Given the description of an element on the screen output the (x, y) to click on. 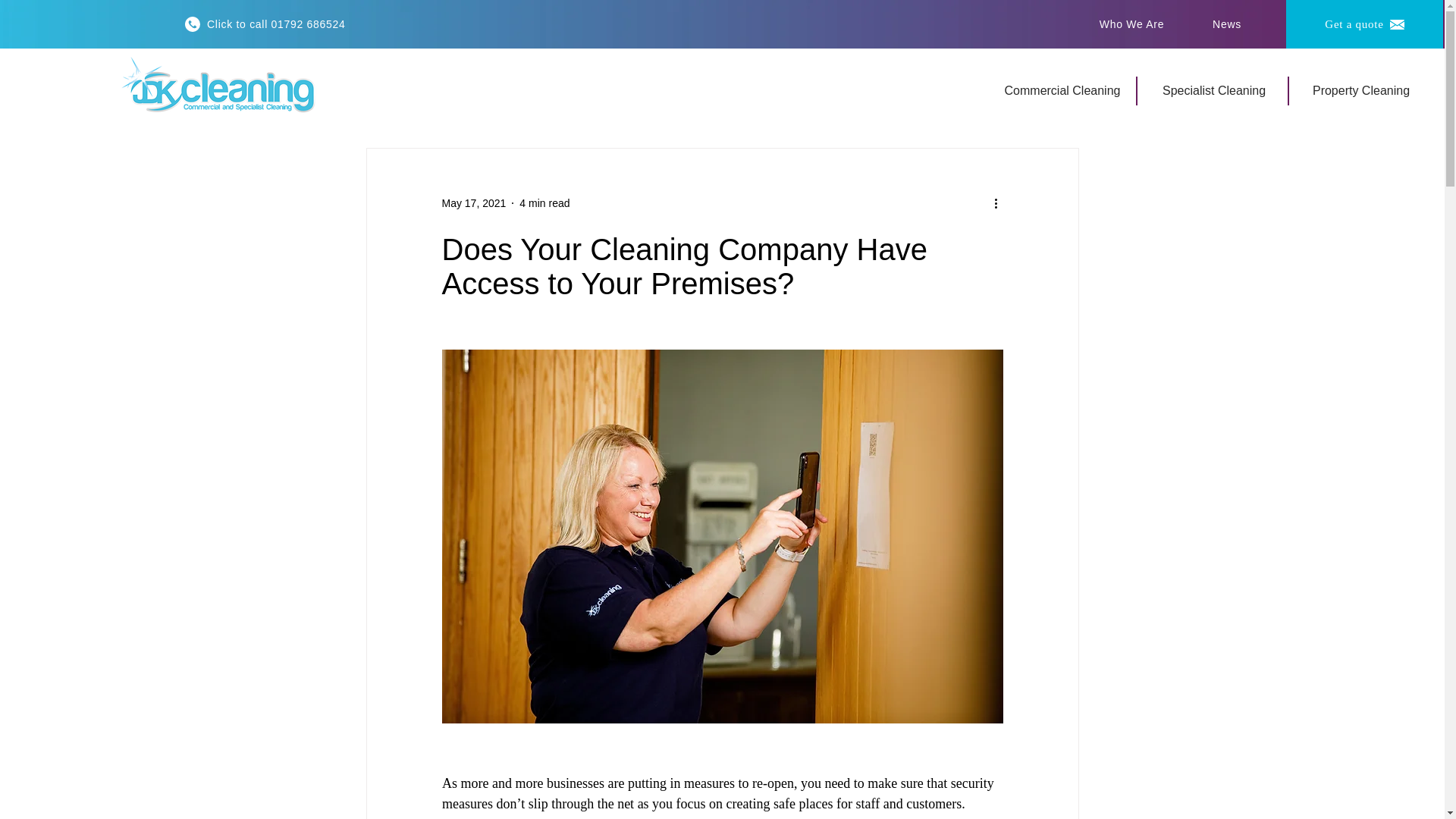
Property Cleaning (1362, 91)
Who We Are (1132, 24)
Commercial Cleaning (1063, 91)
Get a quote (1363, 24)
Click to call 01792 686524 (264, 24)
May 17, 2021 (473, 203)
4 min read (544, 203)
News (1228, 24)
Specialist Cleaning (1214, 91)
